Given the description of an element on the screen output the (x, y) to click on. 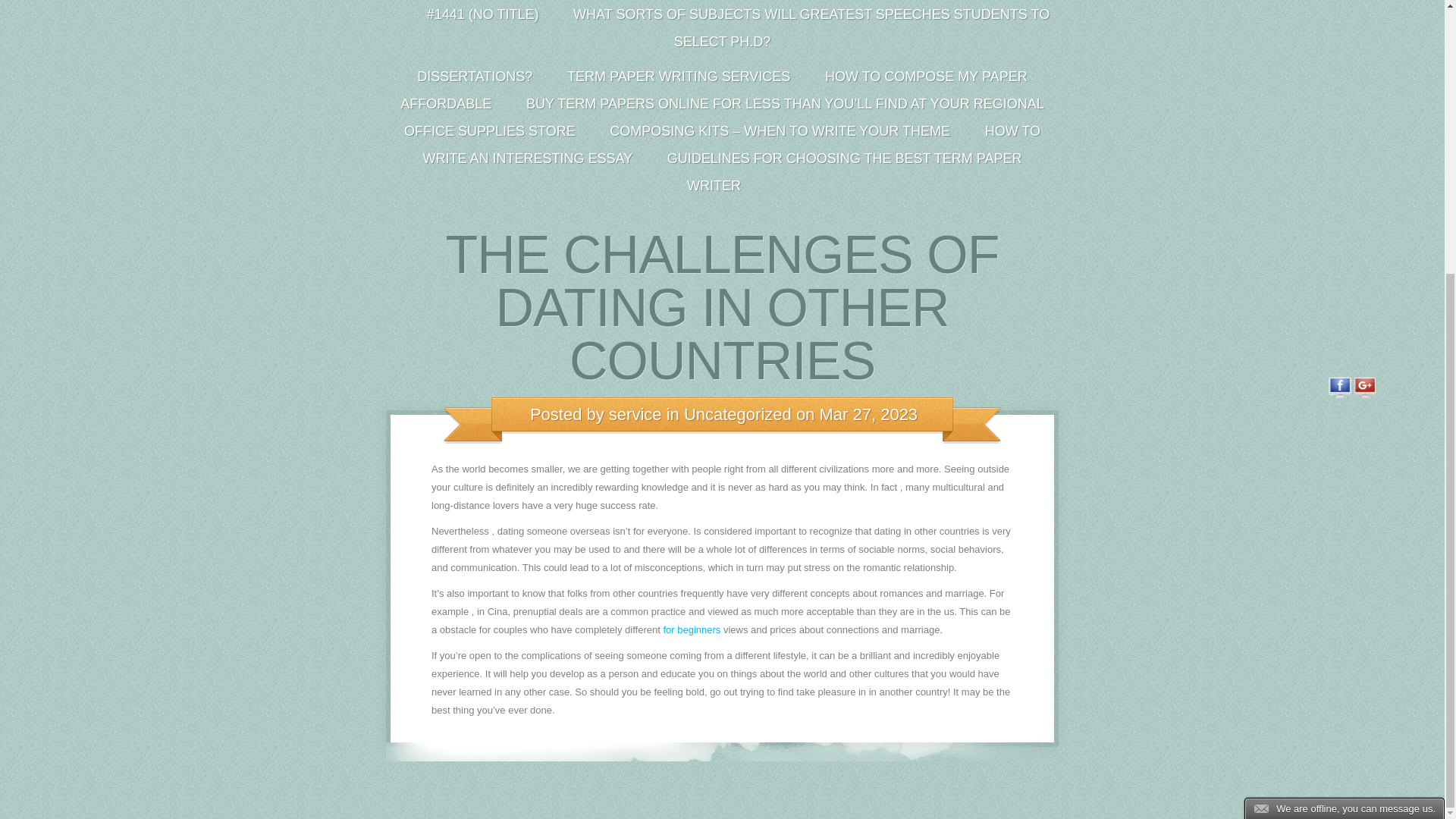
for beginners (691, 629)
TERM PAPER WRITING SERVICES (678, 79)
service (635, 414)
Visit Us On Facebook (1339, 396)
Posts by service (635, 414)
GUIDELINES FOR CHOOSING THE BEST TERM PAPER WRITER (840, 175)
HOW TO COMPOSE MY PAPER AFFORDABLE (713, 93)
Visit Us On Google Plus (1364, 396)
HOW TO WRITE AN INTERESTING ESSAY (731, 148)
